Given the description of an element on the screen output the (x, y) to click on. 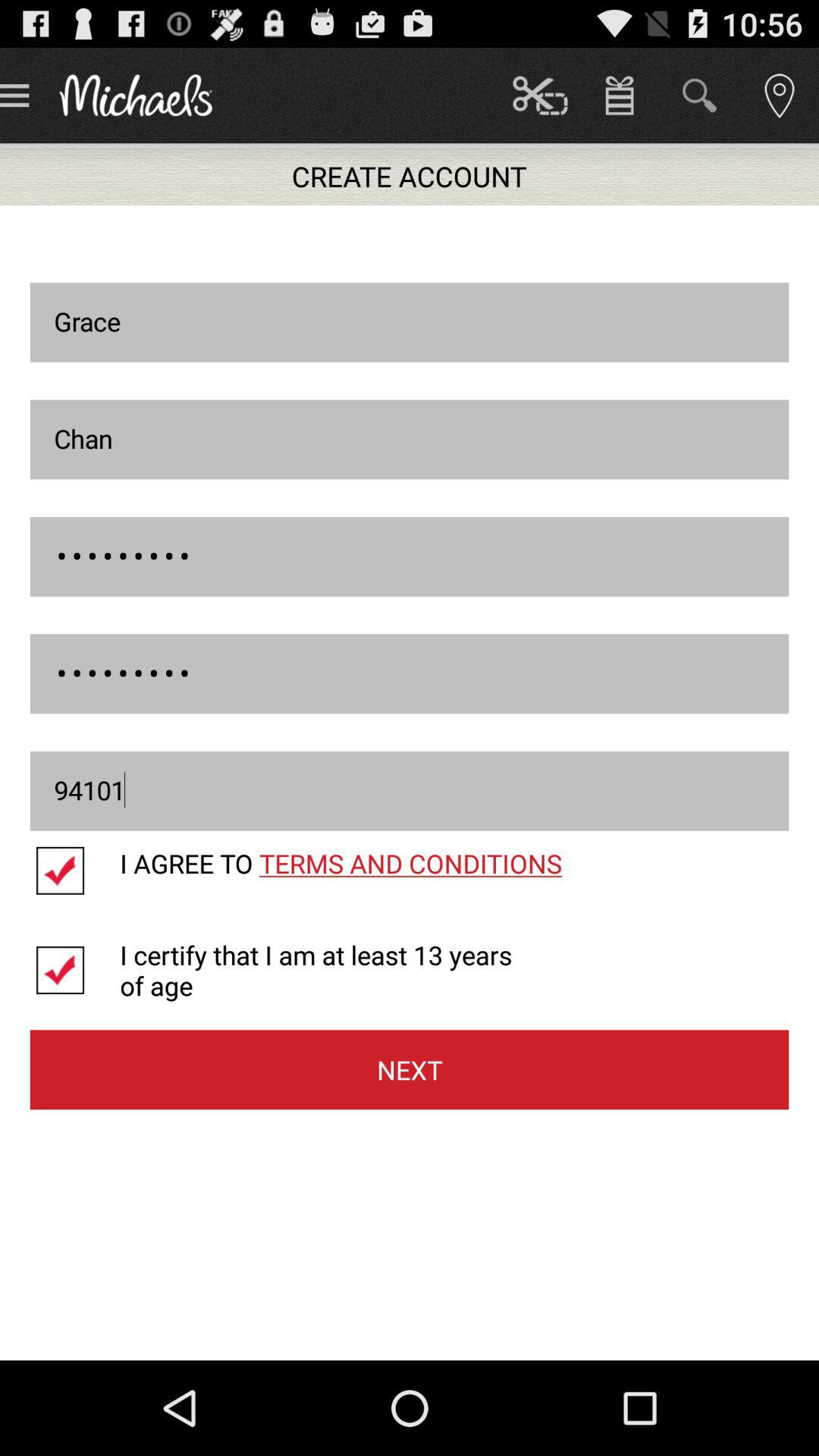
check or uncheck agree to terms and conditions (75, 870)
